Given the description of an element on the screen output the (x, y) to click on. 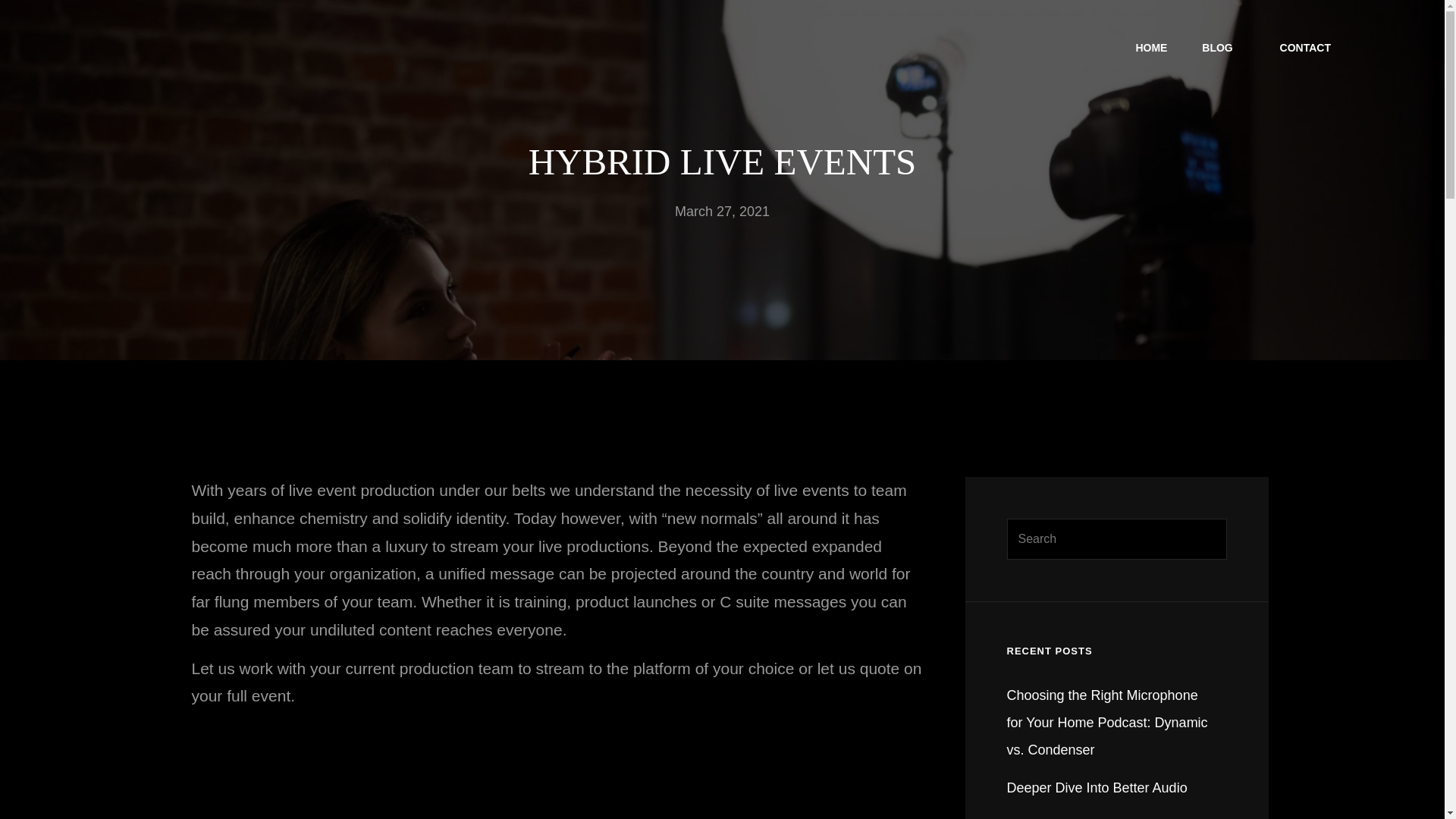
Deeper Dive Into Better Audio (1097, 787)
CONTACT (1305, 46)
BLOG (1222, 46)
STREAMPRO 365 (354, 57)
HOME (1150, 46)
Search (1207, 538)
March 27, 2021 (722, 211)
Search (1402, 46)
Social Share (1364, 48)
